Given the description of an element on the screen output the (x, y) to click on. 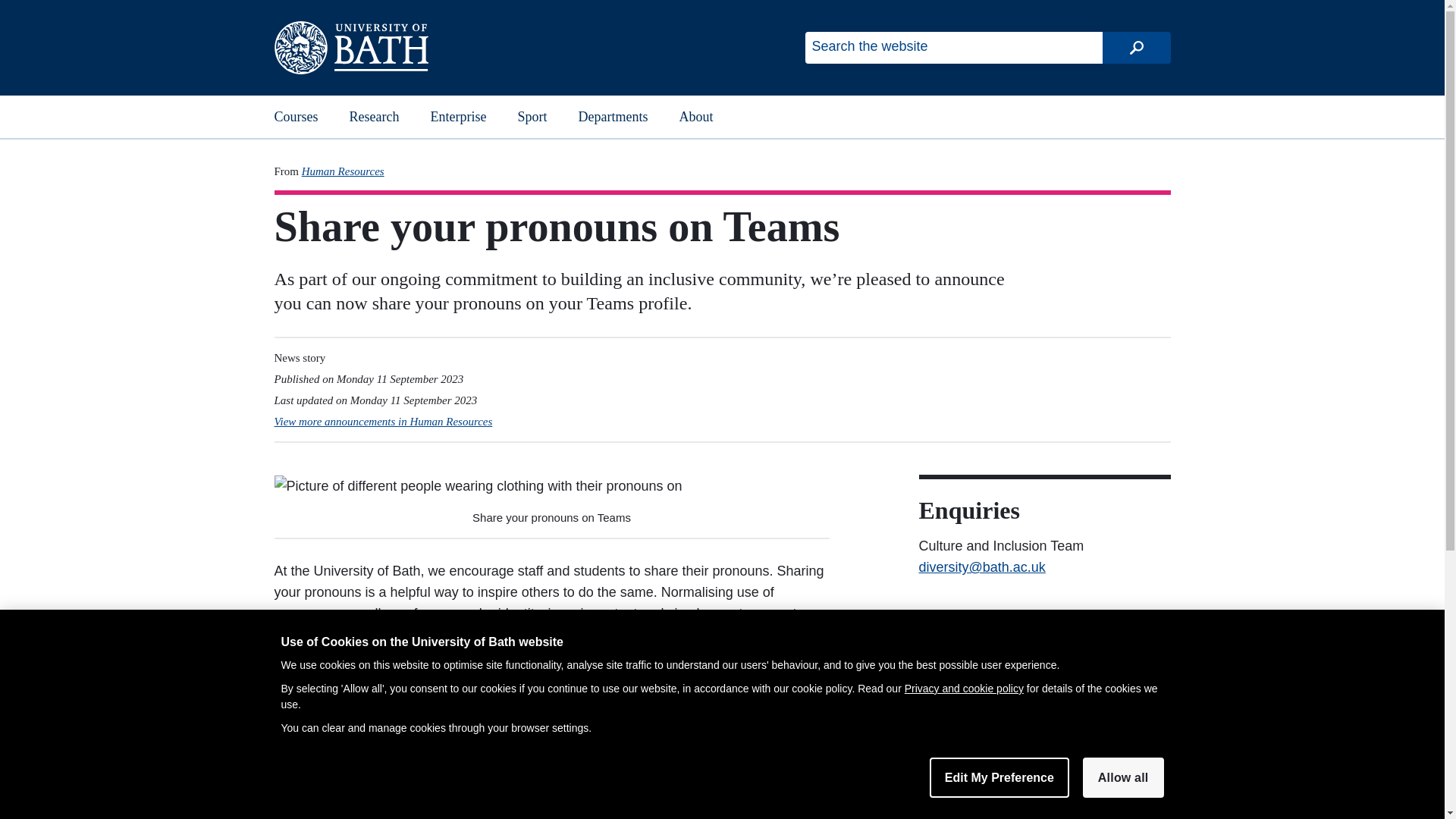
Type search term here (953, 47)
Research (373, 116)
Allow all (1123, 777)
Courses (296, 116)
Enterprise (458, 116)
View more announcements in Human Resources (384, 421)
About (696, 116)
visit our pronouns and inclusivity guidance web page (545, 793)
Sport (531, 116)
